Given the description of an element on the screen output the (x, y) to click on. 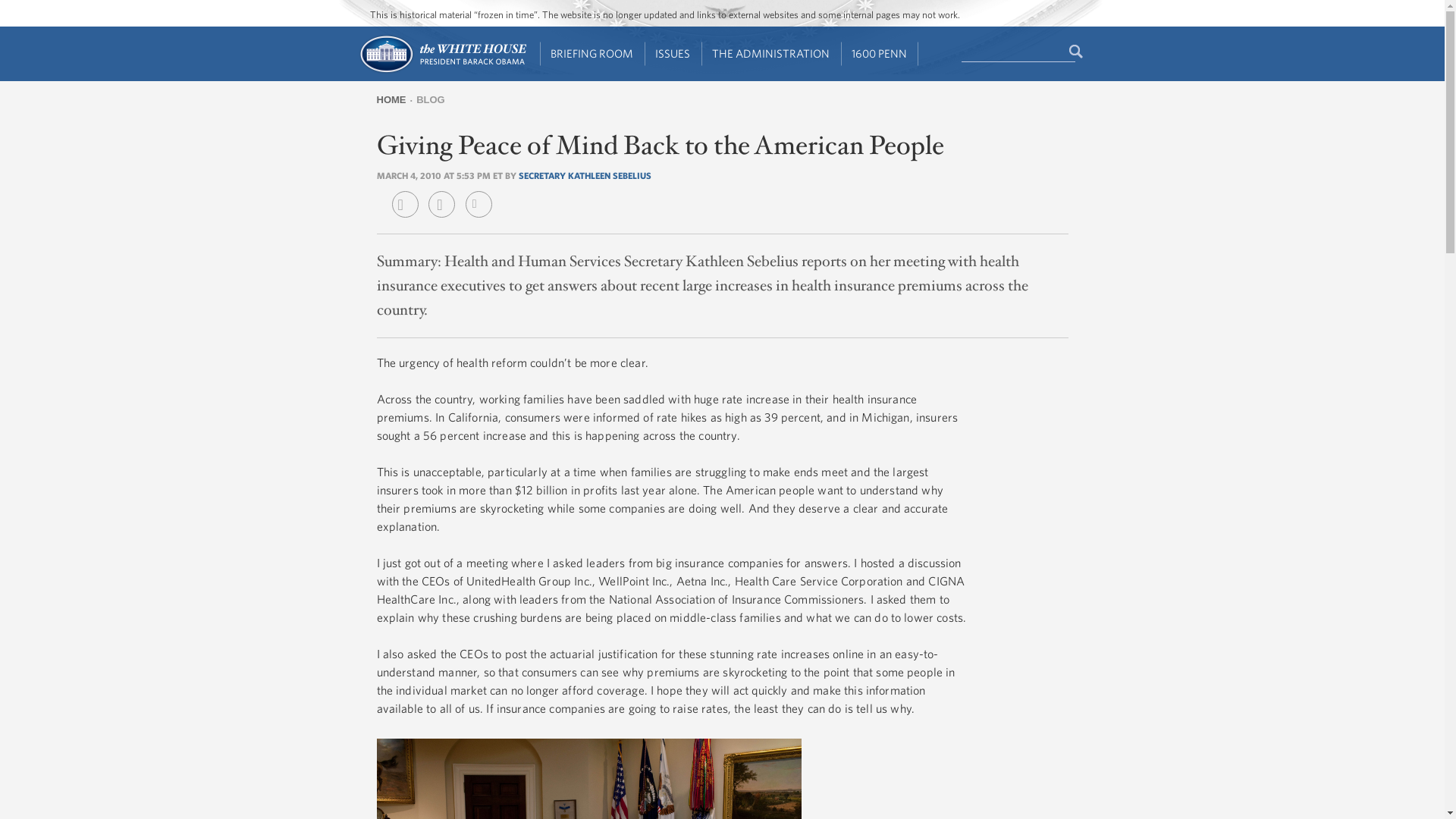
Home (441, 70)
Search (1076, 51)
BRIEFING ROOM (592, 53)
ISSUES (673, 53)
Enter the terms you wish to search for. (1017, 52)
